Given the description of an element on the screen output the (x, y) to click on. 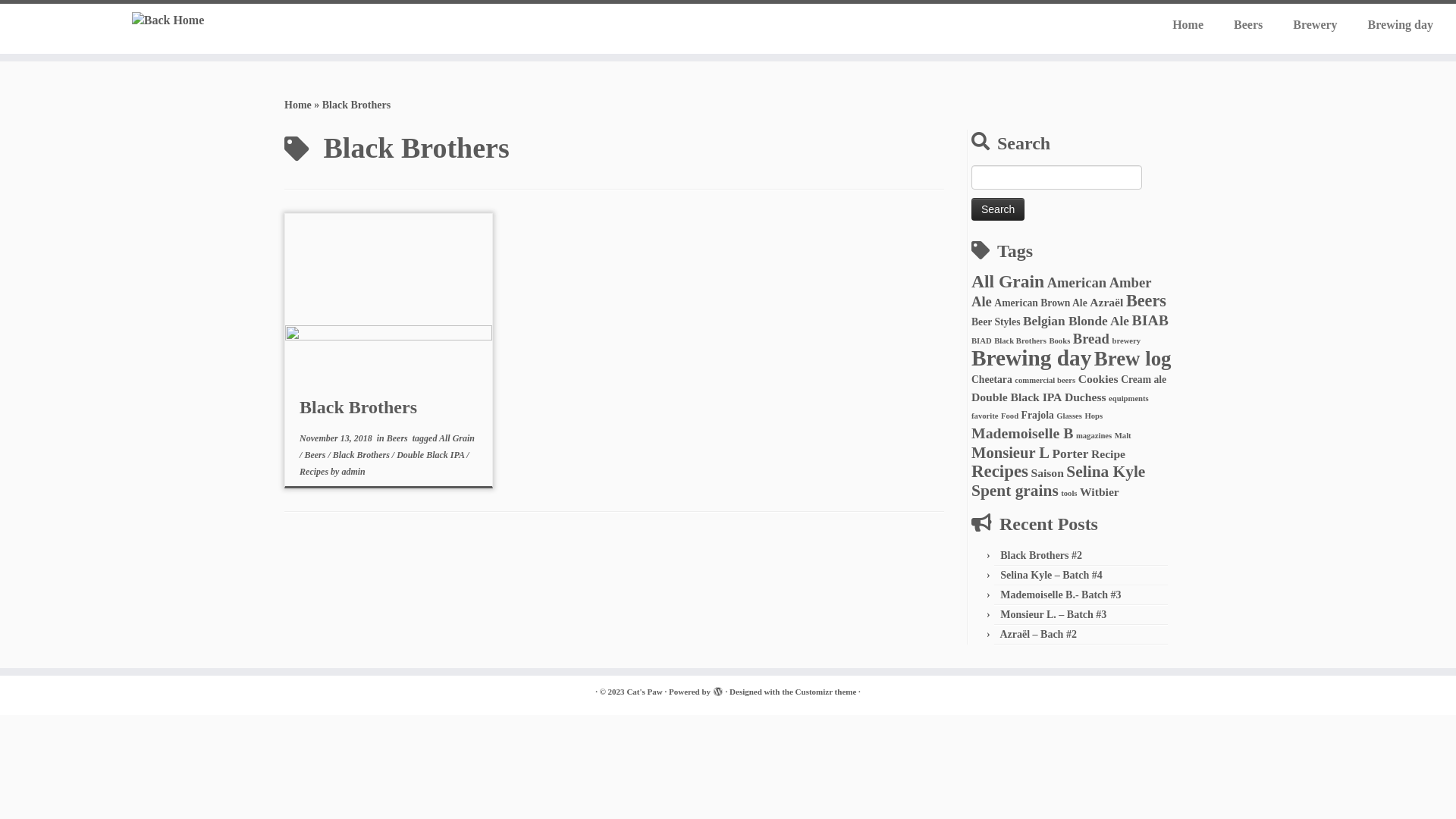
Customizr theme Element type: text (825, 691)
Beers Element type: text (1247, 24)
Cookies Element type: text (1098, 378)
Search Element type: text (997, 208)
November 13, 2018 Element type: text (335, 438)
Porter Element type: text (1070, 453)
Home Element type: text (1187, 24)
Beers Element type: text (398, 438)
BIAB Element type: text (1150, 319)
Mademoiselle B Element type: text (1022, 432)
Black Brothers Element type: text (1020, 340)
Beers Element type: text (1146, 300)
Food Element type: text (1009, 415)
Glasses Element type: text (1069, 415)
Beers Element type: text (315, 454)
Brew log Element type: text (1132, 358)
Double Black IPA Element type: text (431, 454)
American Brown Ale Element type: text (1040, 302)
tools Element type: text (1068, 493)
Mademoiselle B.- Batch #3 Element type: text (1060, 594)
Cream ale Element type: text (1143, 379)
Saison Element type: text (1046, 472)
Double Black IPA Element type: text (1016, 396)
admin Element type: text (352, 471)
Malt Element type: text (1122, 435)
American Amber Ale Element type: text (1061, 291)
brewery Element type: text (1125, 340)
equipments Element type: text (1128, 398)
Black Brothers Element type: text (358, 407)
Witbier Element type: text (1099, 491)
Home Element type: text (297, 104)
Cat's Paw Element type: text (644, 691)
All Grain Element type: text (456, 438)
Black Brothers #2 Element type: text (1041, 555)
All Grain Element type: text (1007, 281)
Beer Styles Element type: text (995, 321)
Belgian Blonde Ale Element type: text (1075, 320)
Selina Kyle Element type: text (1105, 471)
Books Element type: text (1059, 340)
Recipes Element type: text (999, 470)
Bread Element type: text (1091, 338)
Cheetara Element type: text (991, 379)
Frajola Element type: text (1037, 414)
magazines Element type: text (1093, 435)
Duchess Element type: text (1085, 396)
Recipes Element type: text (314, 471)
Black Brothers Element type: text (362, 454)
Recipe Element type: text (1108, 453)
Spent grains Element type: text (1014, 490)
Brewery Element type: text (1314, 24)
Monsieur L Element type: text (1010, 452)
commercial beers Element type: text (1044, 380)
favorite Element type: text (984, 415)
BIAD Element type: text (981, 340)
Brewing day Element type: text (1392, 24)
Powered by WordPress Element type: hover (717, 689)
Hops Element type: text (1093, 415)
Brewing day Element type: text (1031, 357)
